Given the description of an element on the screen output the (x, y) to click on. 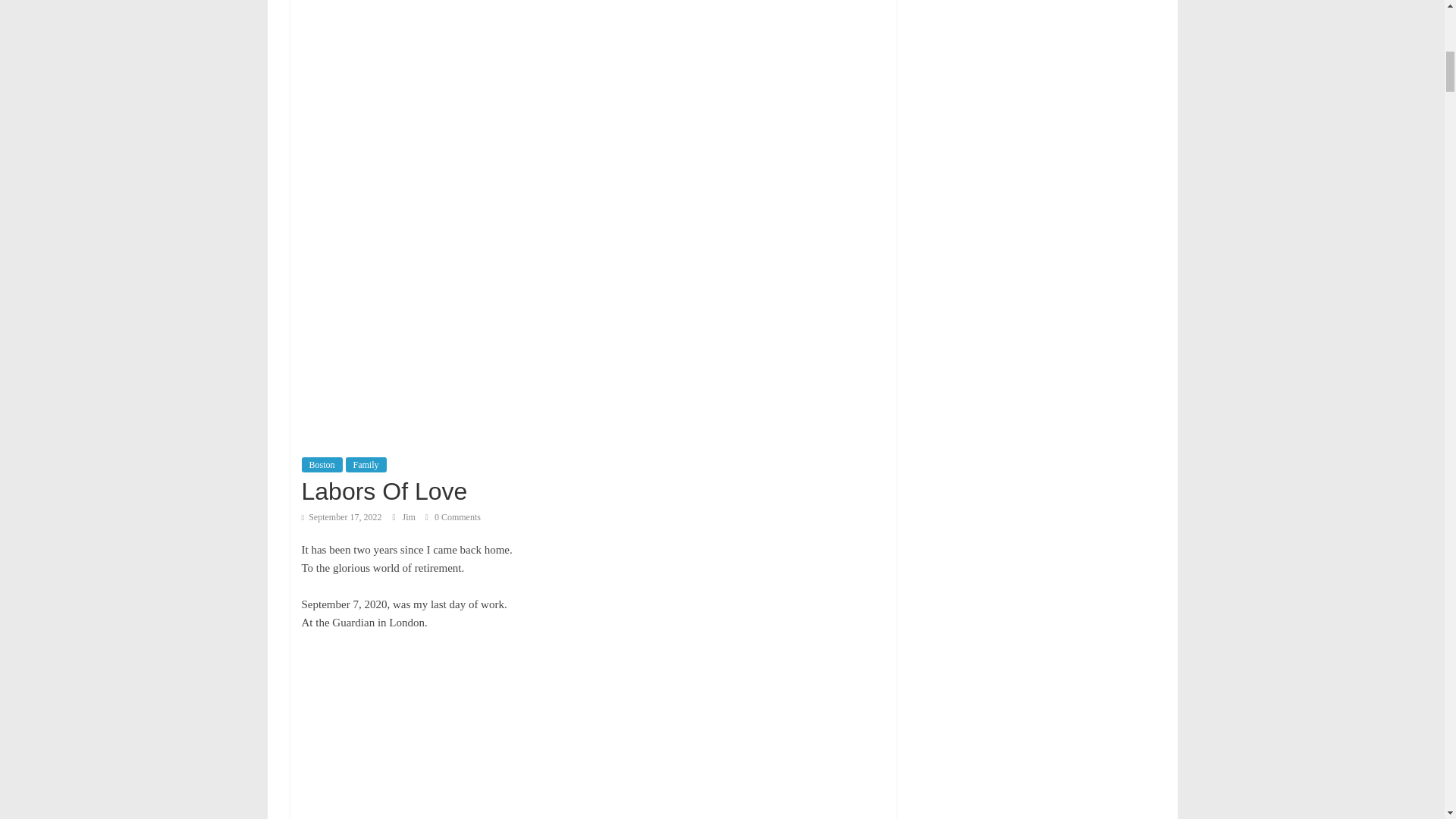
Boston (321, 464)
Jim (410, 516)
Family (366, 464)
September 17, 2022 (341, 516)
Jim (410, 516)
2:59 pm (341, 516)
0 Comments (452, 516)
